Given the description of an element on the screen output the (x, y) to click on. 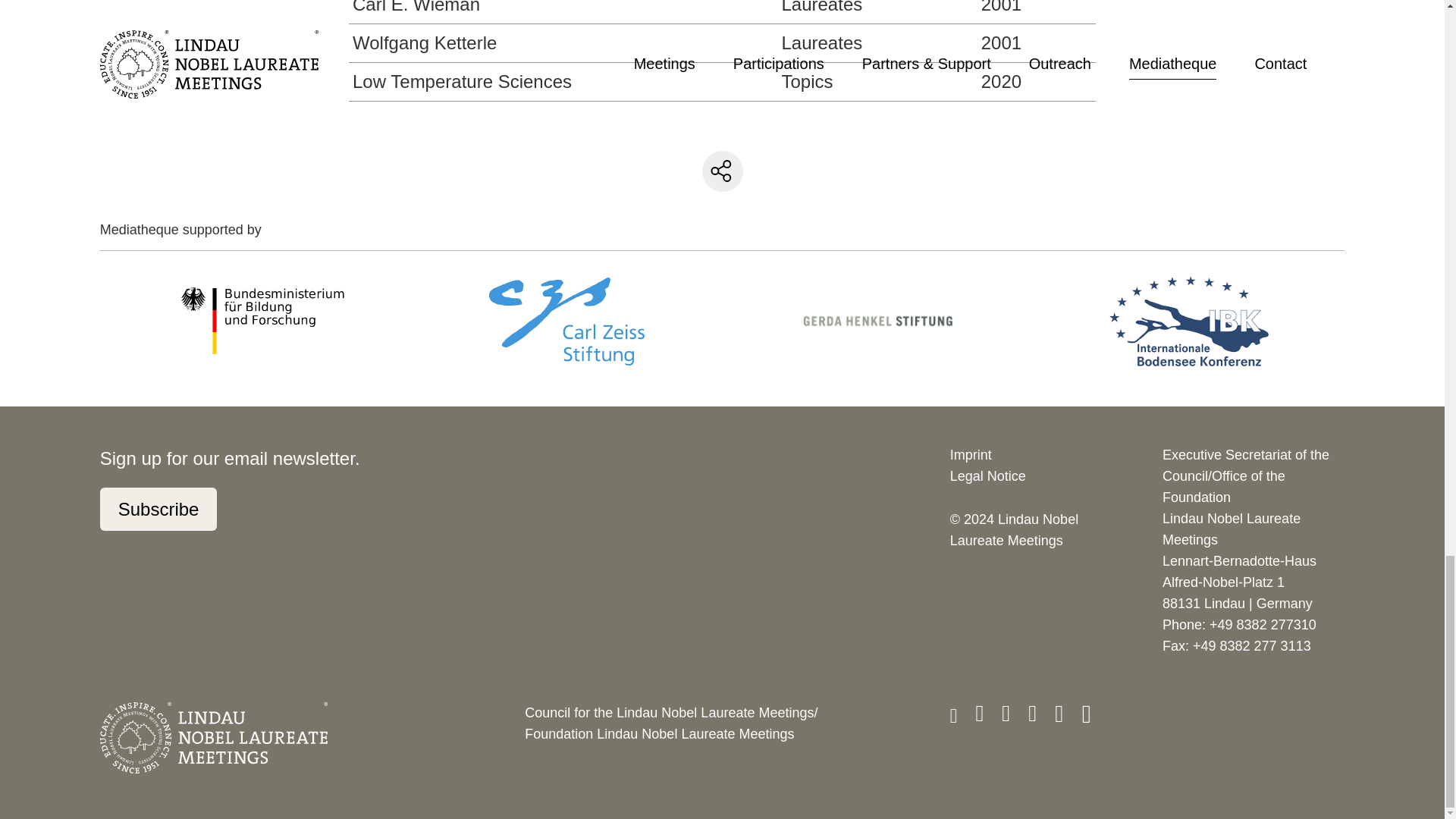
Carl Zeiss Stiftung (566, 321)
Gerda Henkel Stiftung (877, 320)
Internationale Bodensee Konferenz (1188, 321)
